Given the description of an element on the screen output the (x, y) to click on. 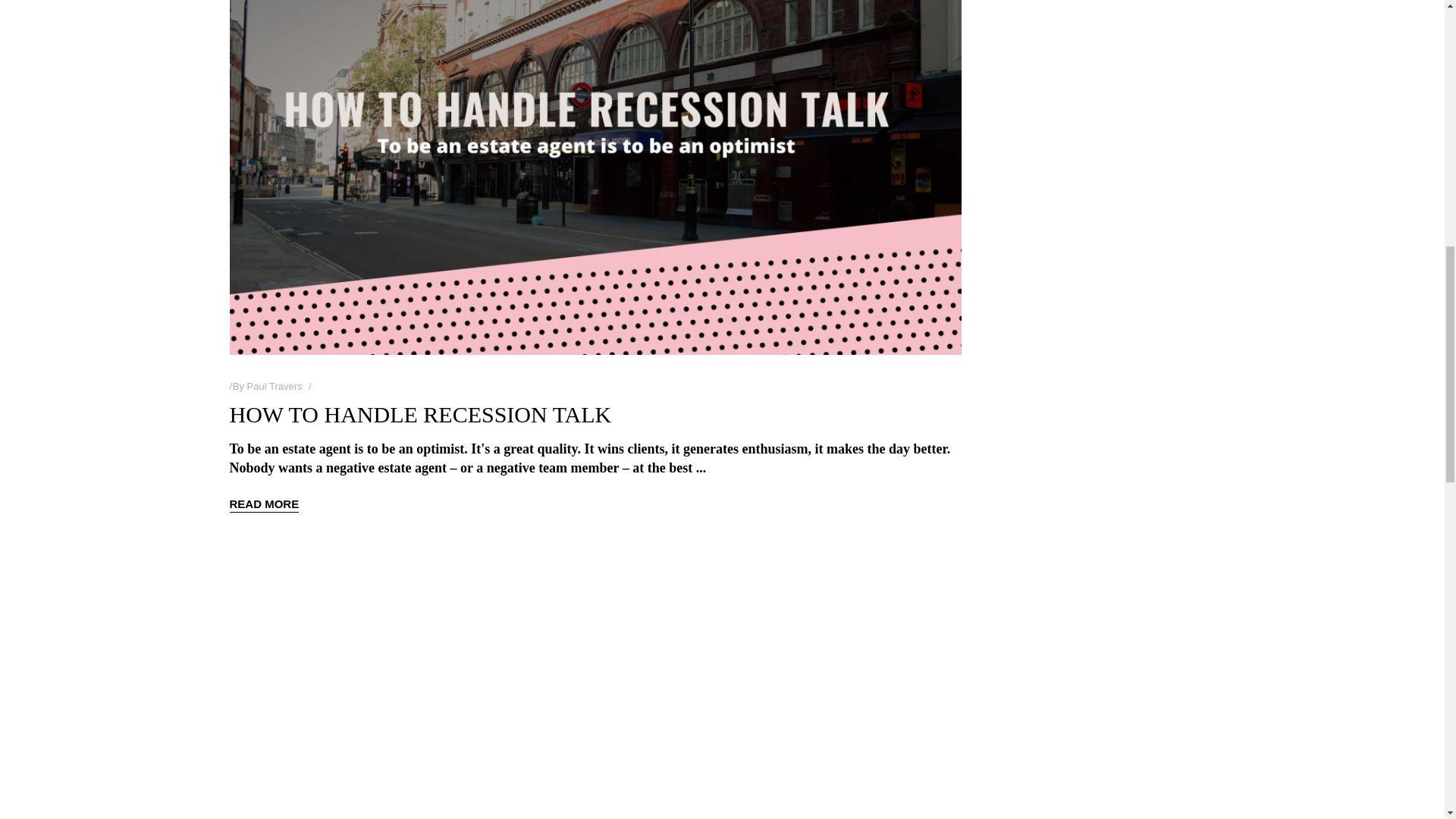
HOW TO HANDLE RECESSION TALK (419, 414)
